Given the description of an element on the screen output the (x, y) to click on. 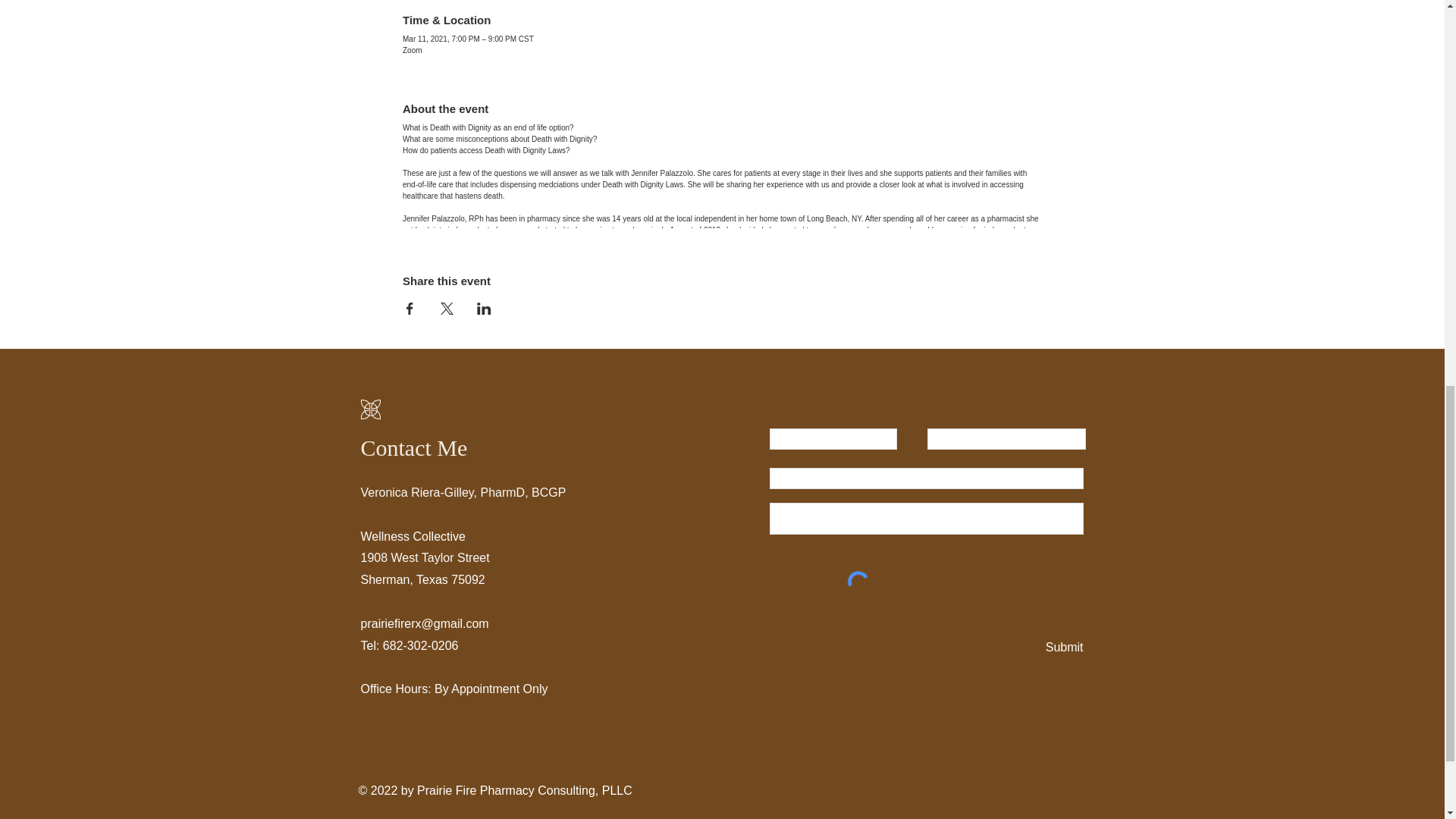
Submit (1062, 647)
Tel: 682-302-0206 (409, 645)
